Given the description of an element on the screen output the (x, y) to click on. 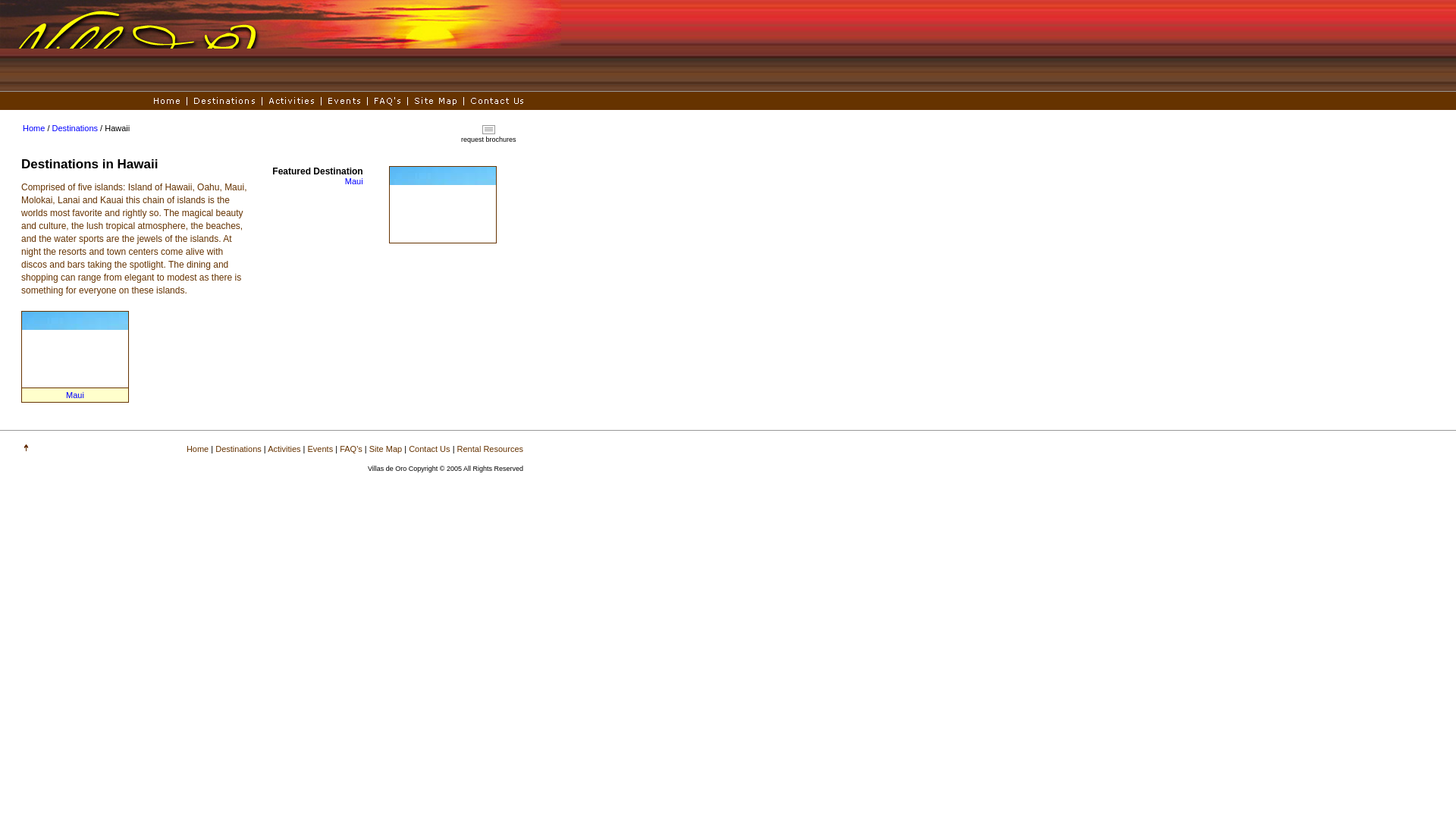
FAQ's (350, 448)
Destinations (238, 448)
Maui (74, 394)
Events (320, 448)
Activities (283, 448)
Contact Us (429, 448)
Home (197, 448)
Home (34, 127)
Site Map (385, 448)
Destinations (75, 127)
Maui (353, 180)
Rental Resources (489, 448)
